Given the description of an element on the screen output the (x, y) to click on. 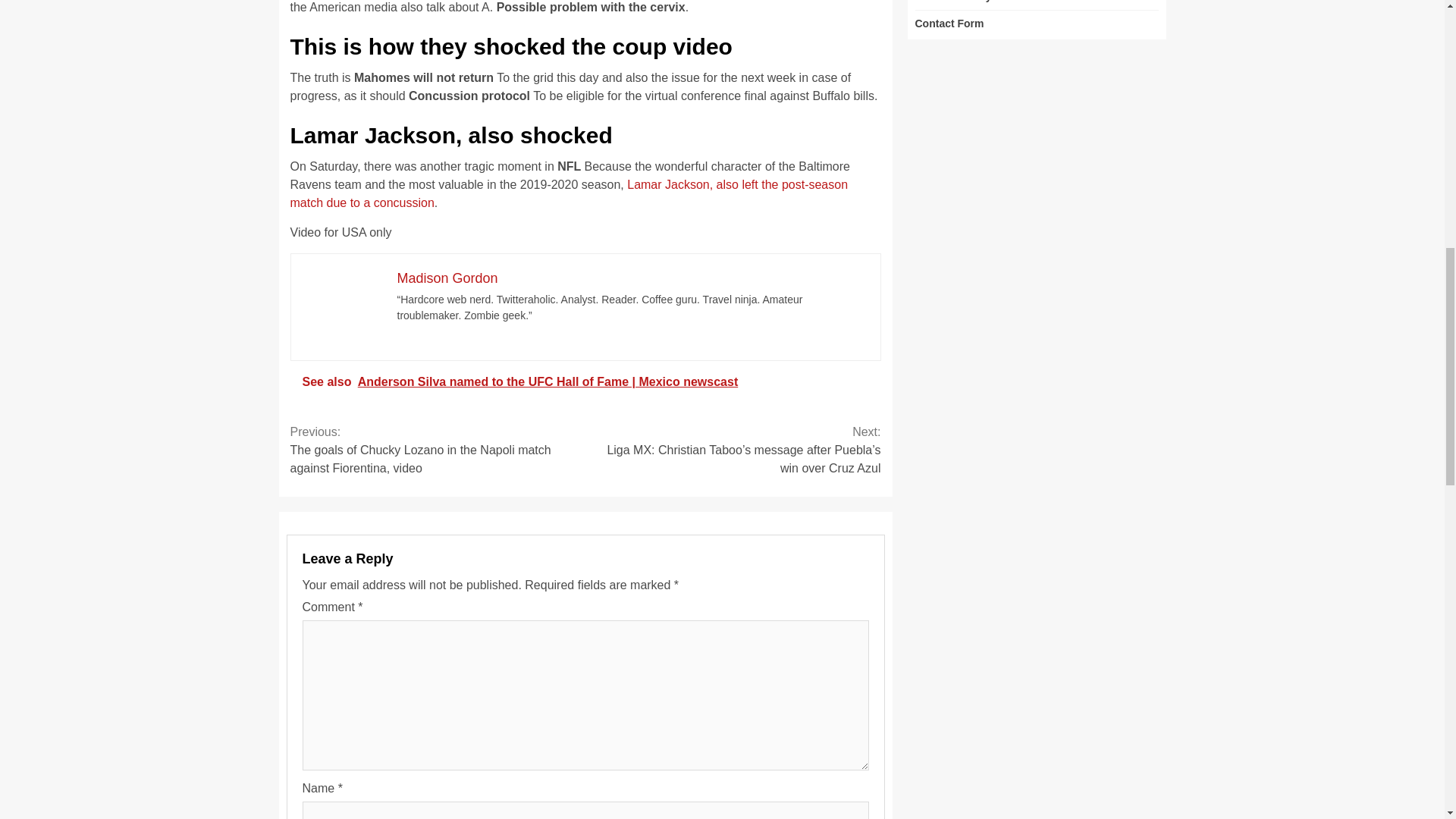
Madison Gordon (447, 278)
